Given the description of an element on the screen output the (x, y) to click on. 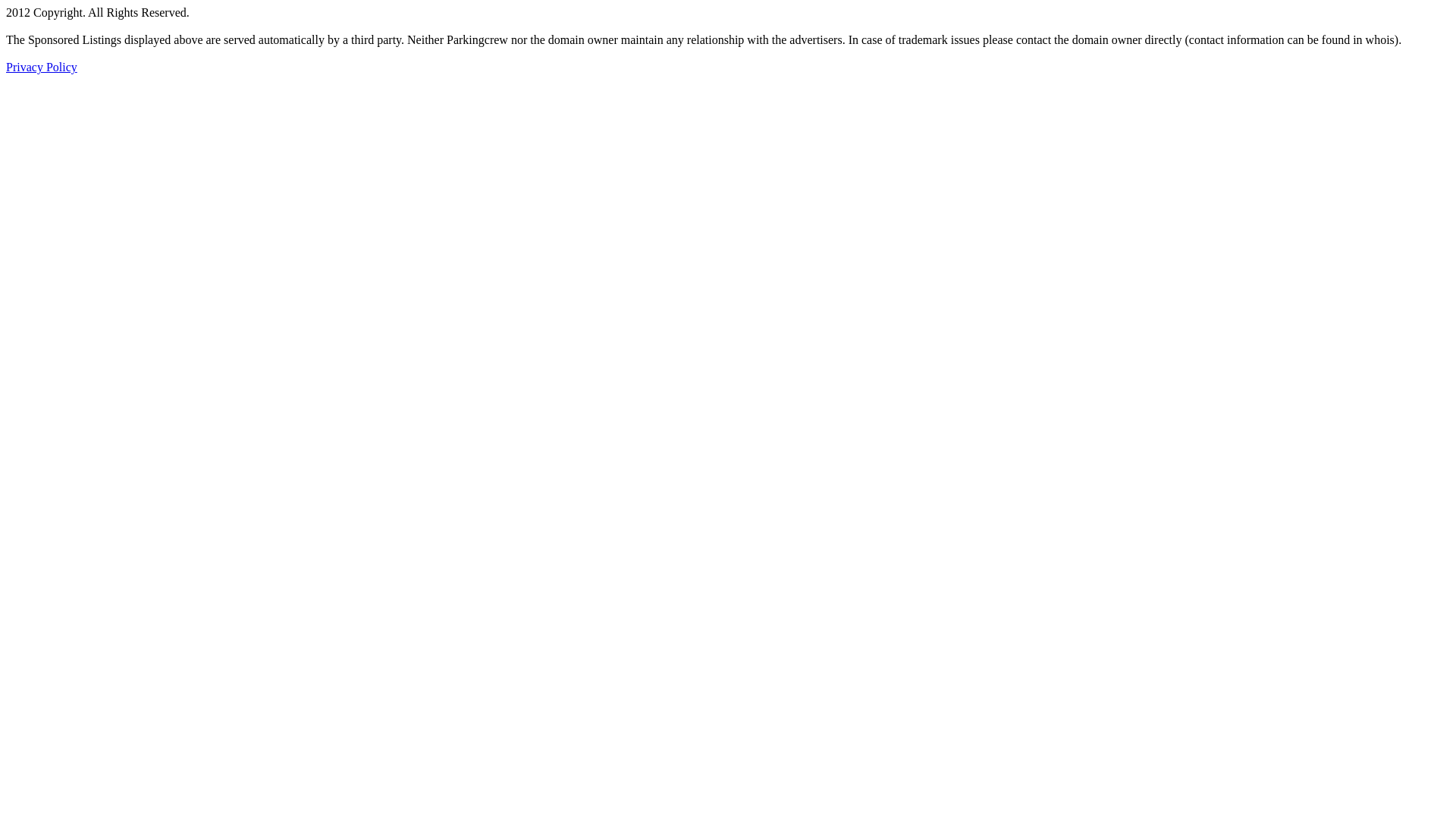
Privacy Policy Element type: text (41, 66)
